Given the description of an element on the screen output the (x, y) to click on. 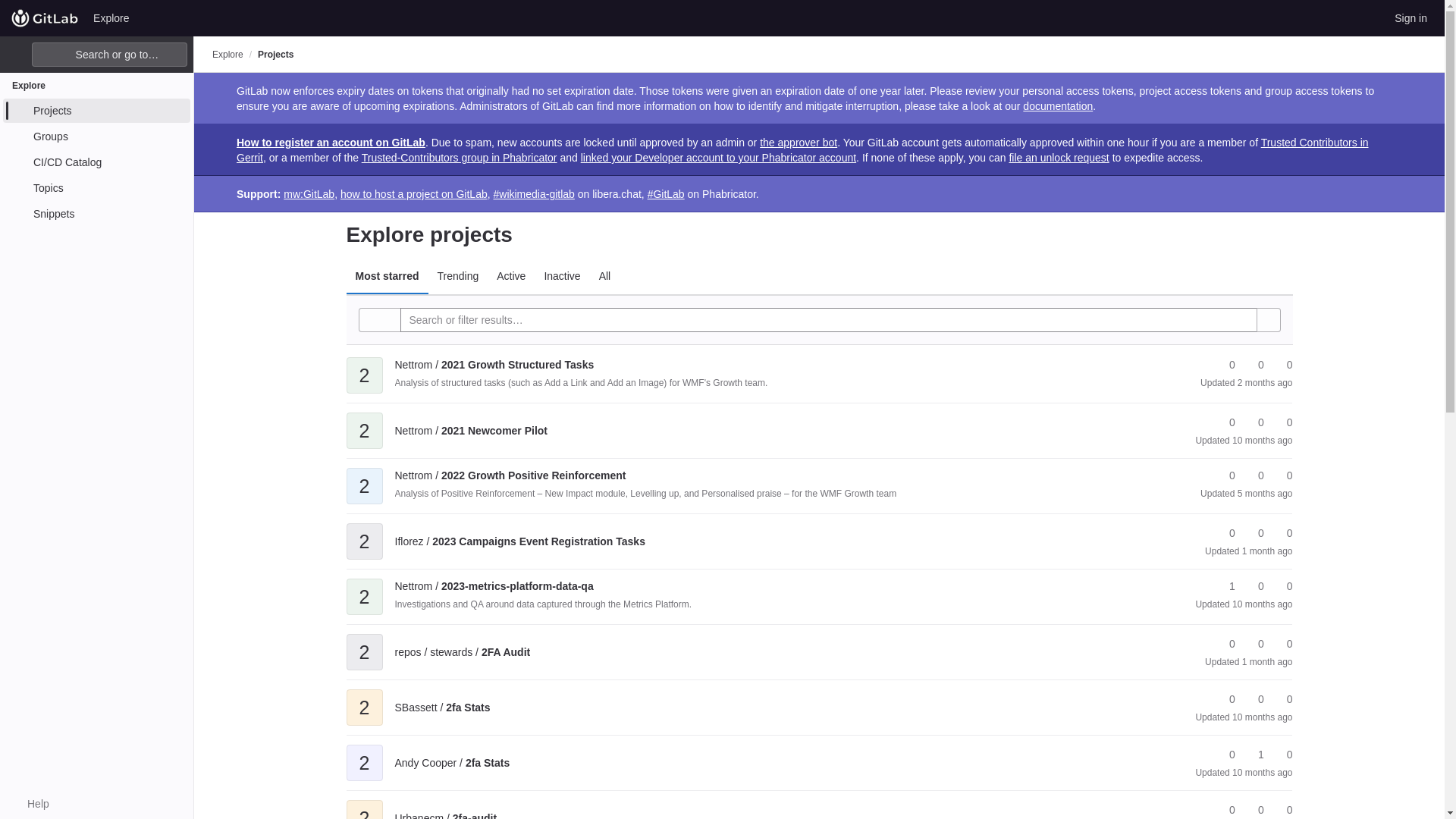
Trusted Contributors in Gerrit (801, 149)
how to host a project on GitLab (413, 193)
2021 Growth Structured Tasks (494, 364)
Sign in (1410, 17)
file an unlock request (1058, 157)
Explore (111, 17)
Homepage (44, 17)
Explore (227, 54)
Help (30, 803)
mw:GitLab (308, 193)
Topics (96, 187)
Stars (1224, 422)
Forks (1253, 422)
Snippets (96, 213)
Merge requests (1282, 365)
